Given the description of an element on the screen output the (x, y) to click on. 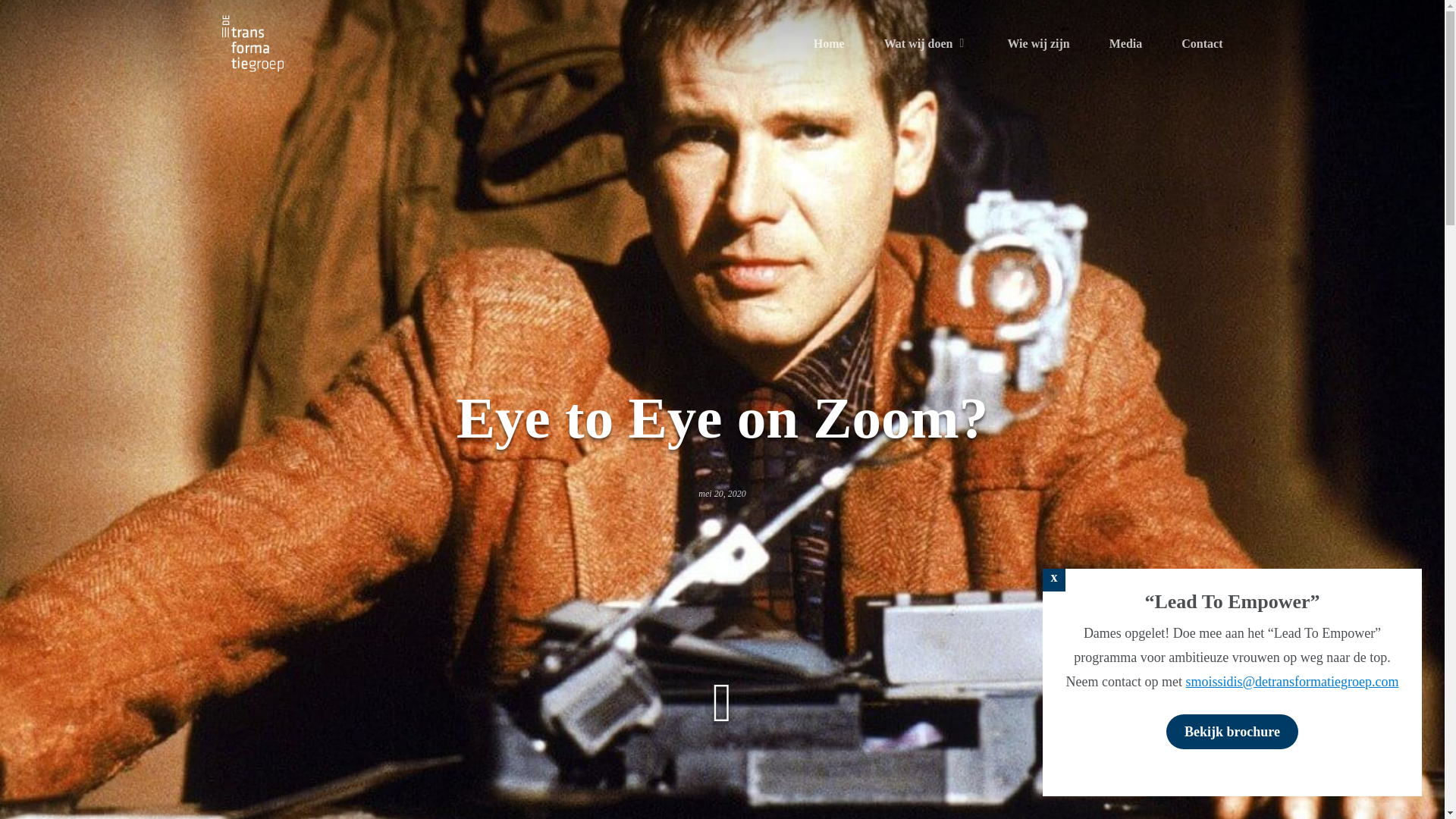
Home (828, 43)
Wie wij zijn (1037, 43)
Contact (1201, 43)
Media (1125, 43)
Wat wij doen (925, 43)
